Given the description of an element on the screen output the (x, y) to click on. 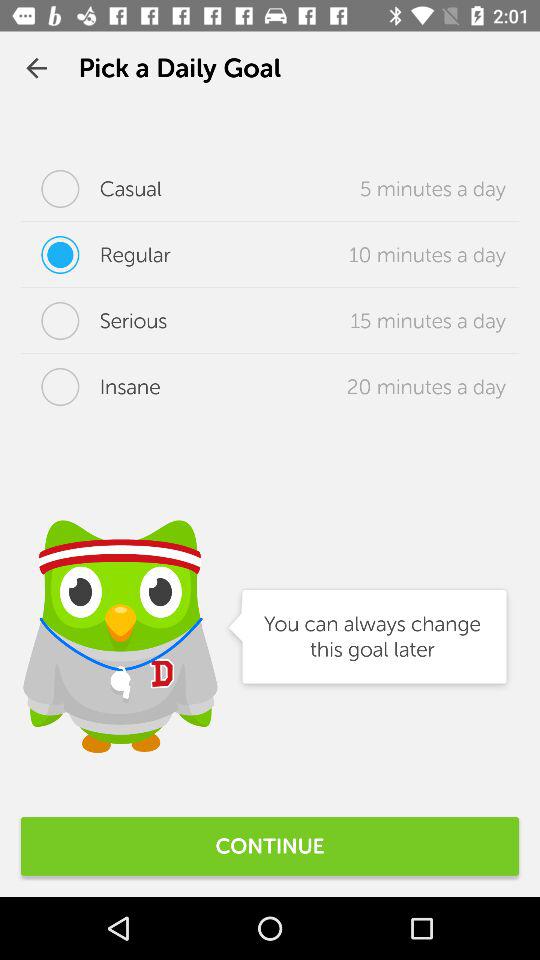
flip until the regular item (95, 255)
